Given the description of an element on the screen output the (x, y) to click on. 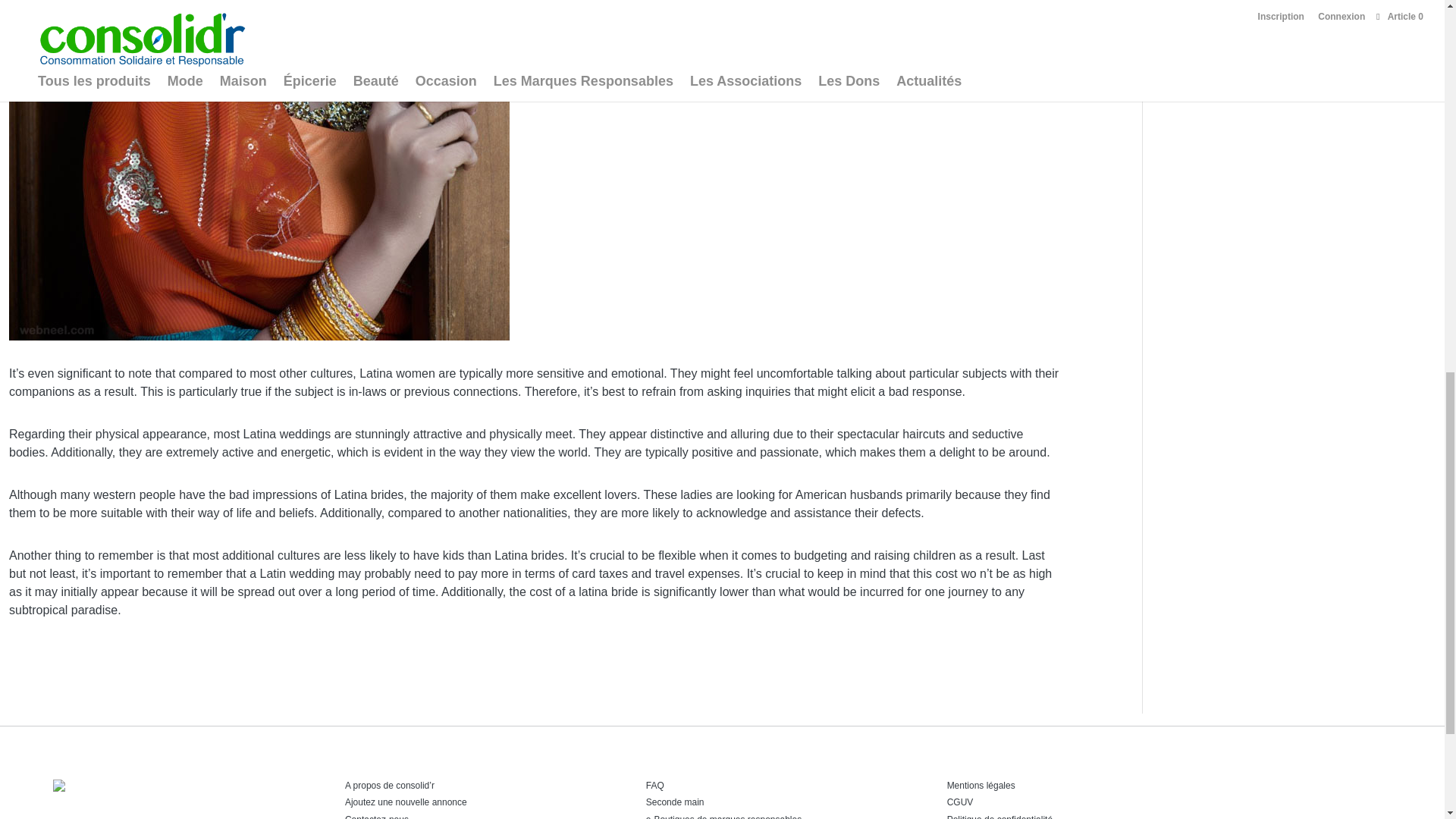
Seconde main (675, 801)
CGUV (960, 801)
Ajoutez une nouvelle annonce (406, 801)
FAQ (654, 785)
Contactez-nous (377, 816)
e-Boutiques de marques responsables (724, 816)
